Given the description of an element on the screen output the (x, y) to click on. 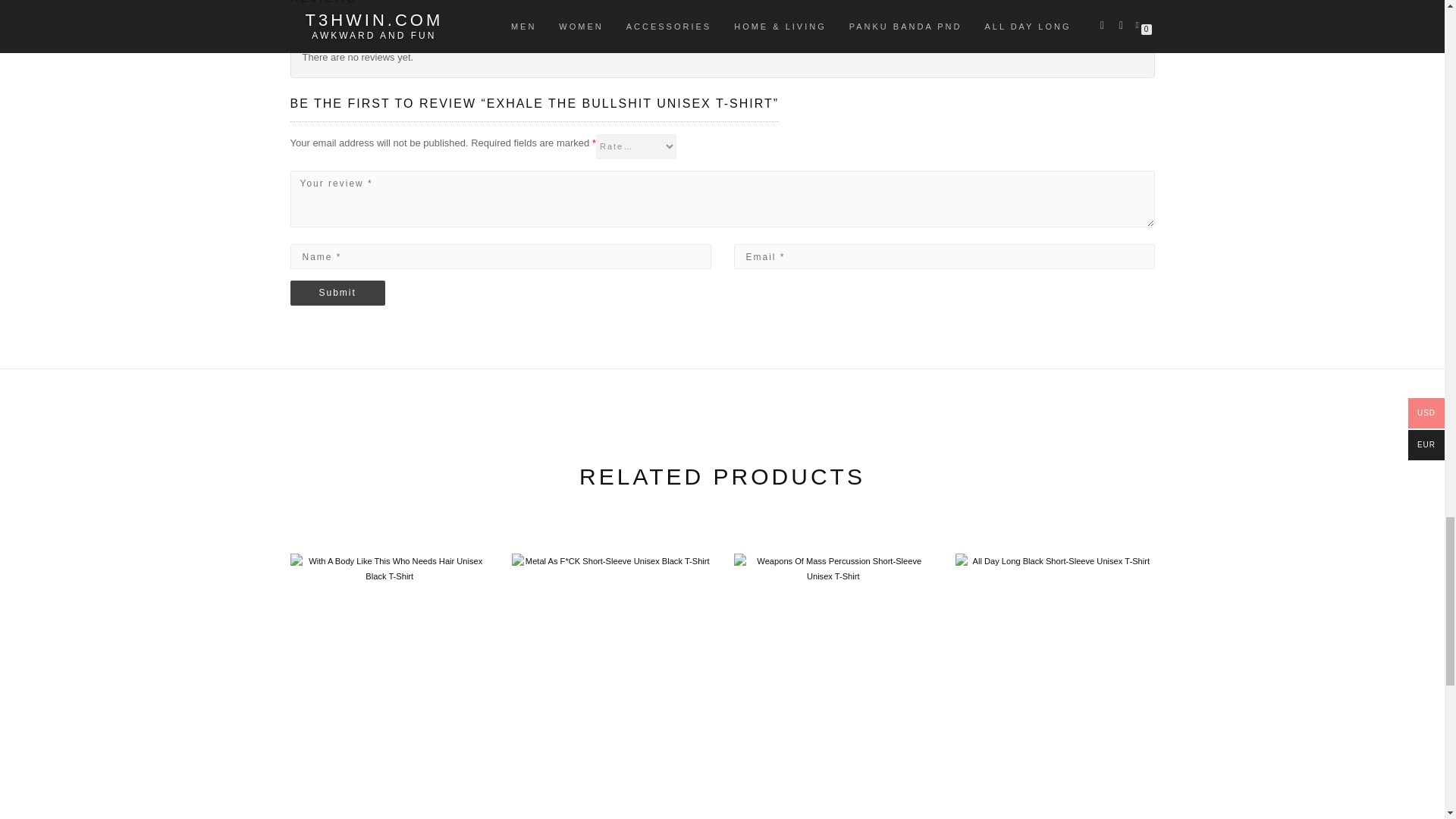
Submit (336, 292)
All Day Long Black Short-Sleeve Unisex T-Shirt (1054, 678)
Weapons Of Mass Percussion Short-Sleeve Unisex T-Shirt (832, 678)
With A Body Like This Who Needs Hair Unisex Black T-Shirt (389, 678)
